Given the description of an element on the screen output the (x, y) to click on. 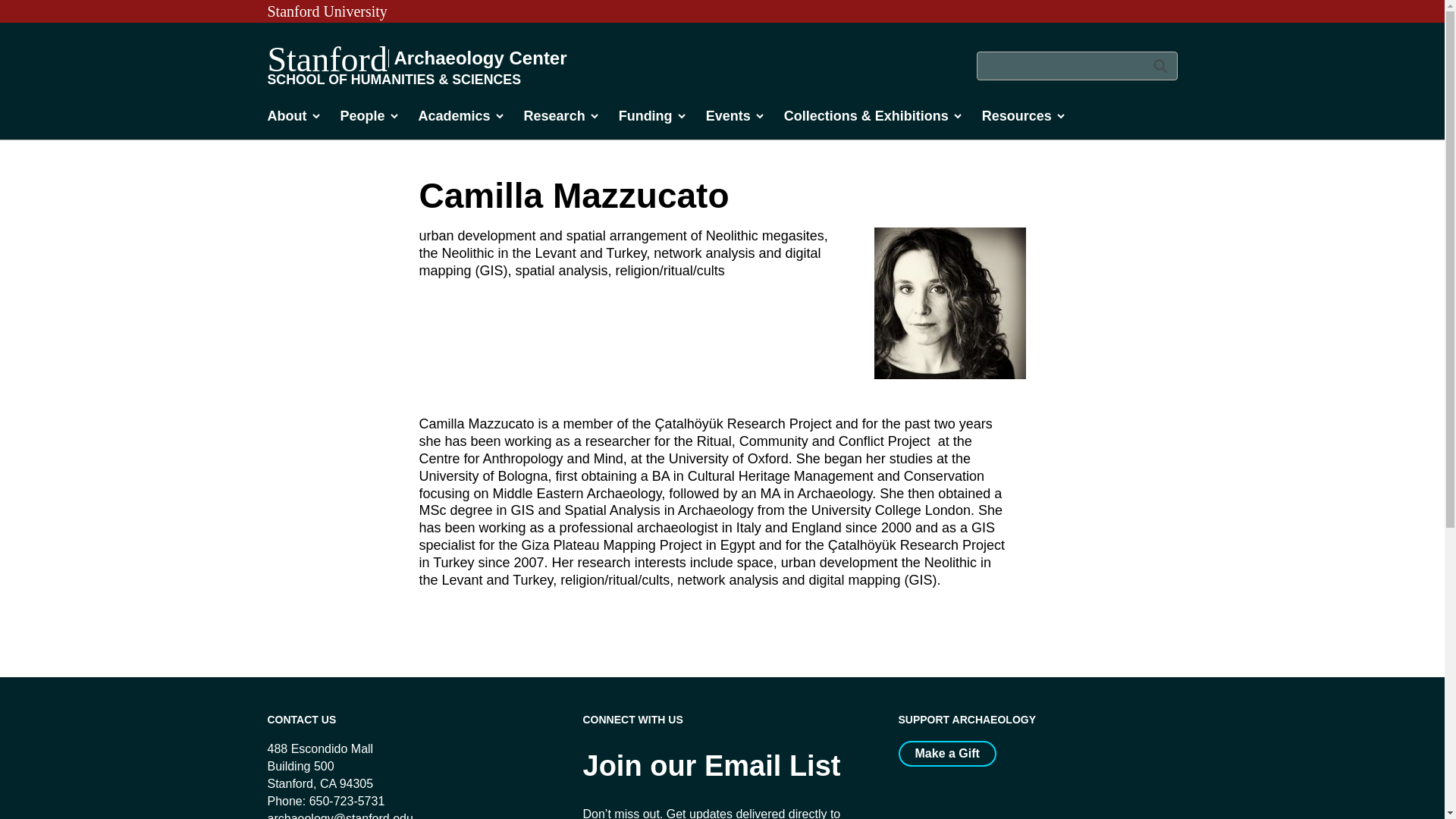
Resources (1024, 120)
People (368, 120)
Search (1159, 65)
About (293, 120)
Search (1159, 65)
Research (561, 120)
Stanford University (326, 11)
Funding (652, 120)
Academics (462, 120)
Events (735, 120)
